Given the description of an element on the screen output the (x, y) to click on. 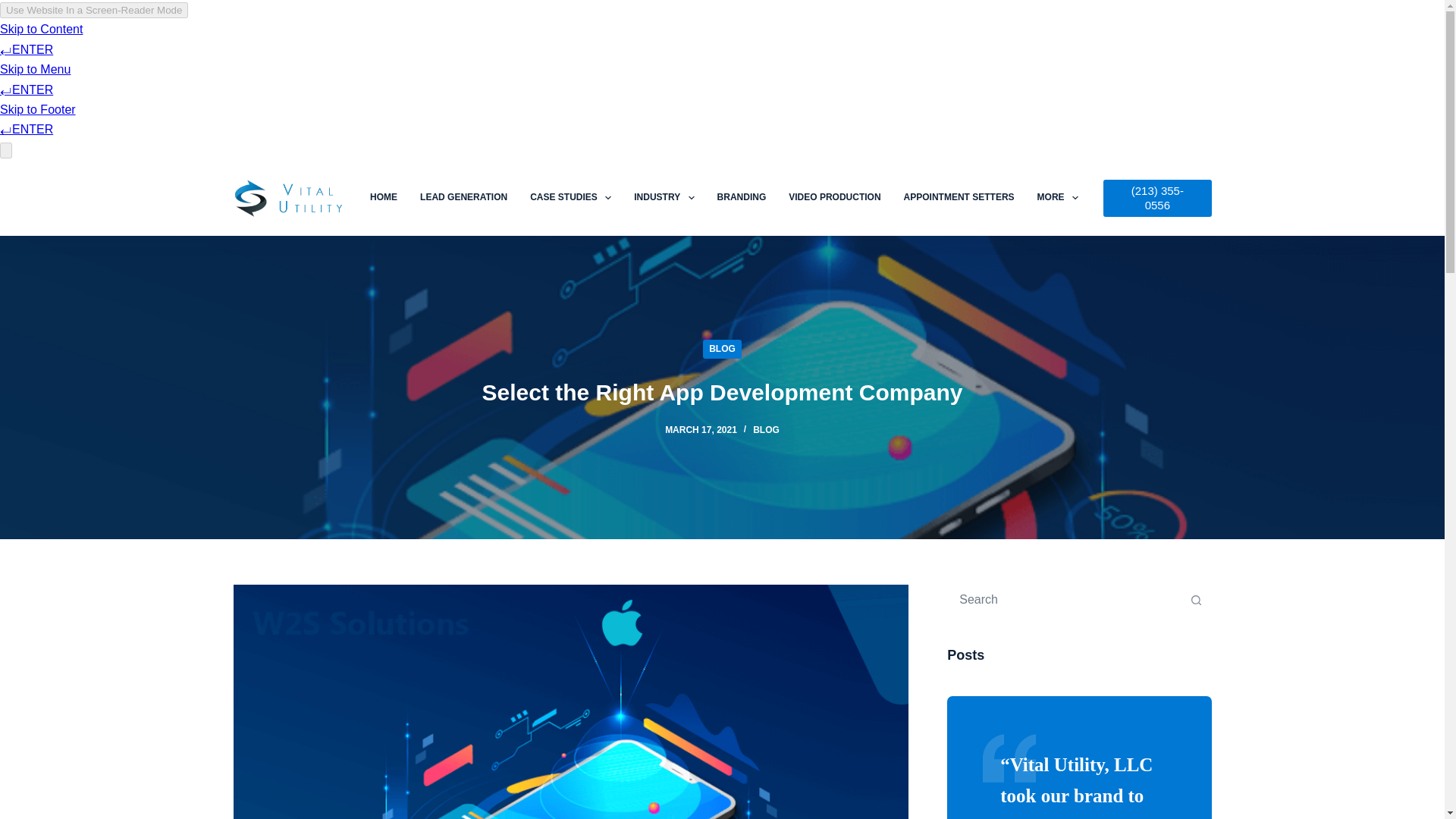
CASE STUDIES (570, 197)
Search for... (1063, 599)
Skip to content (15, 7)
Select the Right App Development Company (722, 392)
LEAD GENERATION (463, 197)
